Given the description of an element on the screen output the (x, y) to click on. 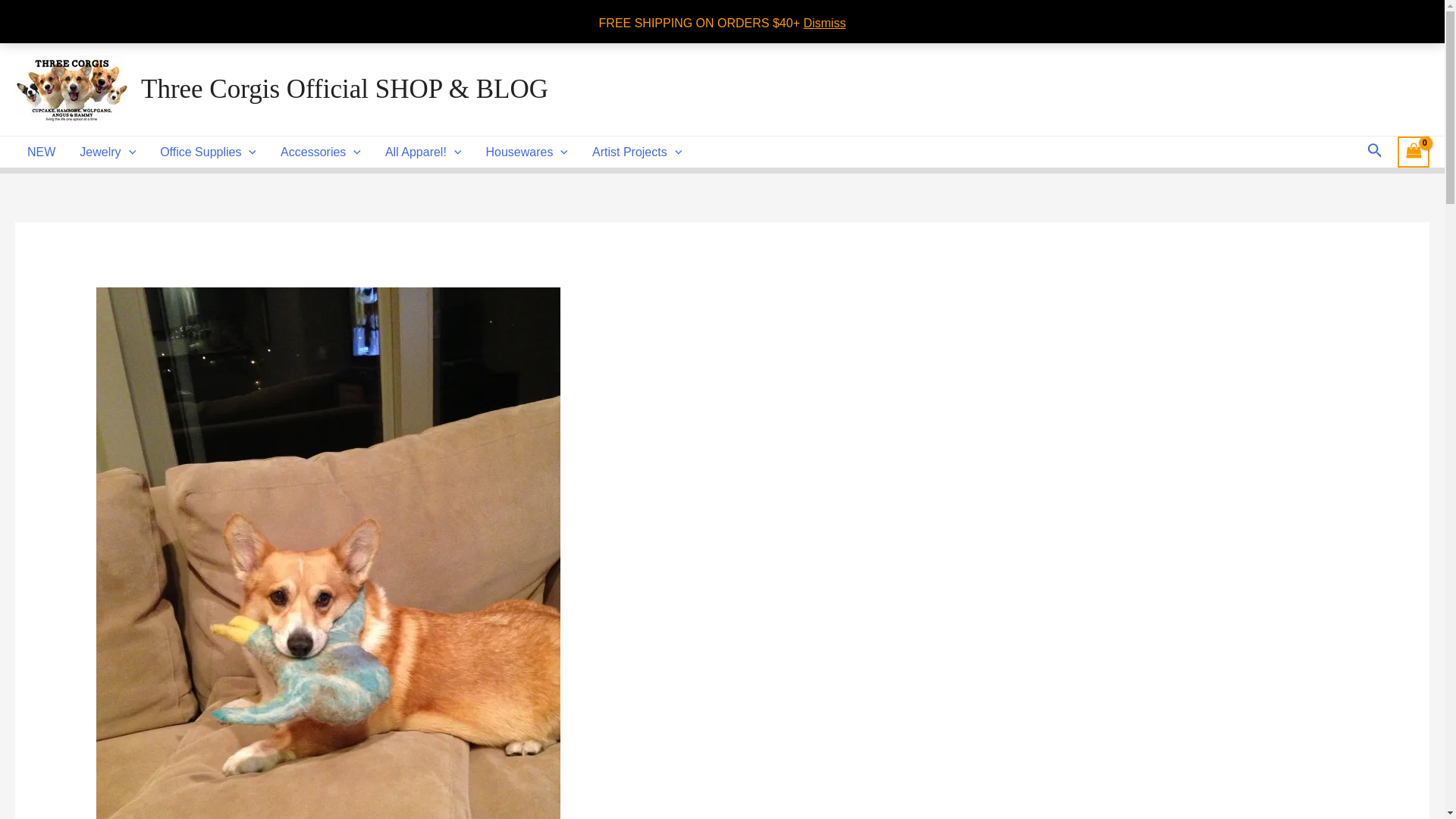
Office Supplies (207, 152)
Jewelry (107, 152)
All Apparel! (423, 152)
Accessories (319, 152)
Housewares (526, 152)
NEW (40, 152)
